Given the description of an element on the screen output the (x, y) to click on. 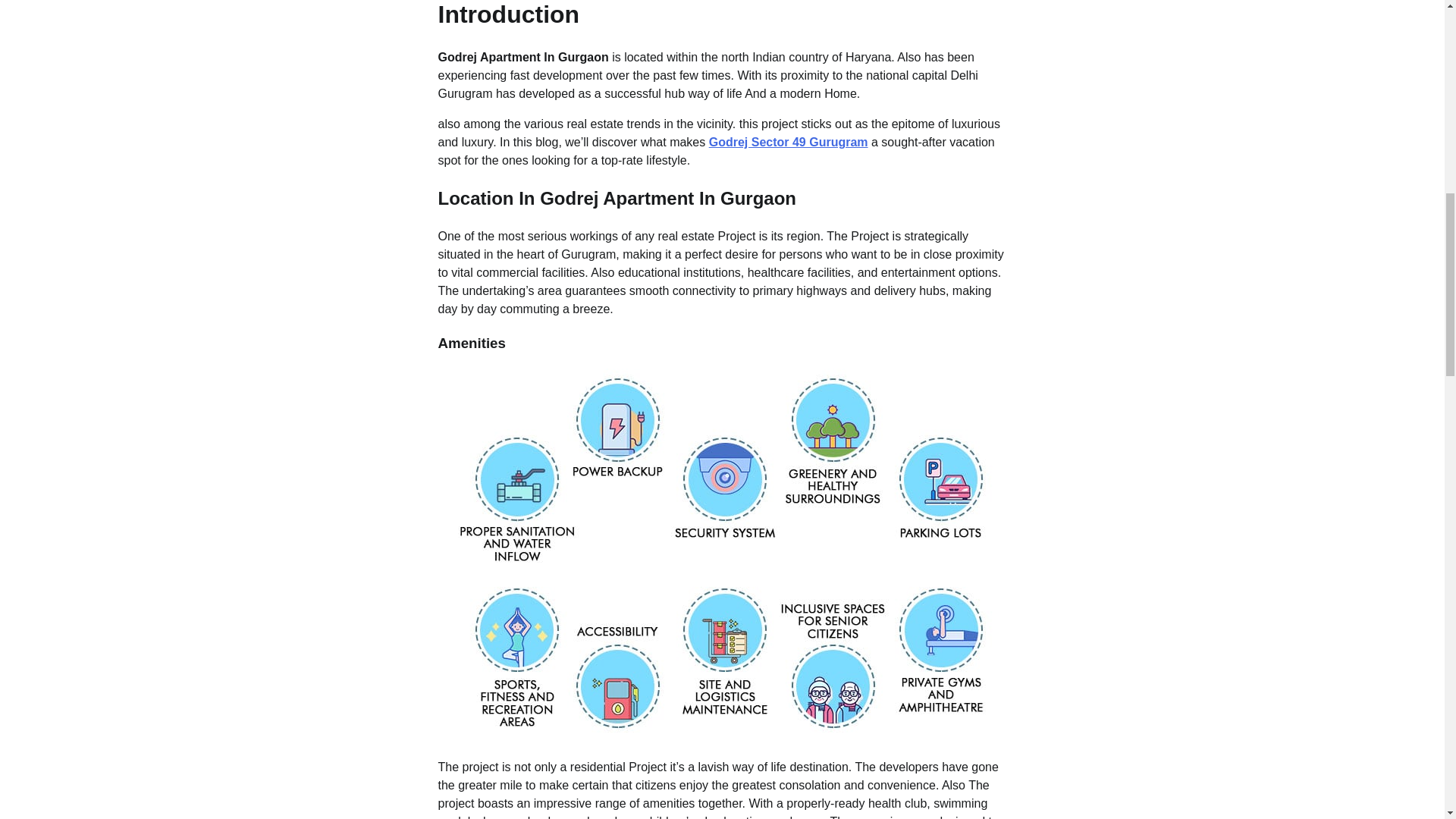
Godrej Sector 49 Gurugram (788, 141)
